Given the description of an element on the screen output the (x, y) to click on. 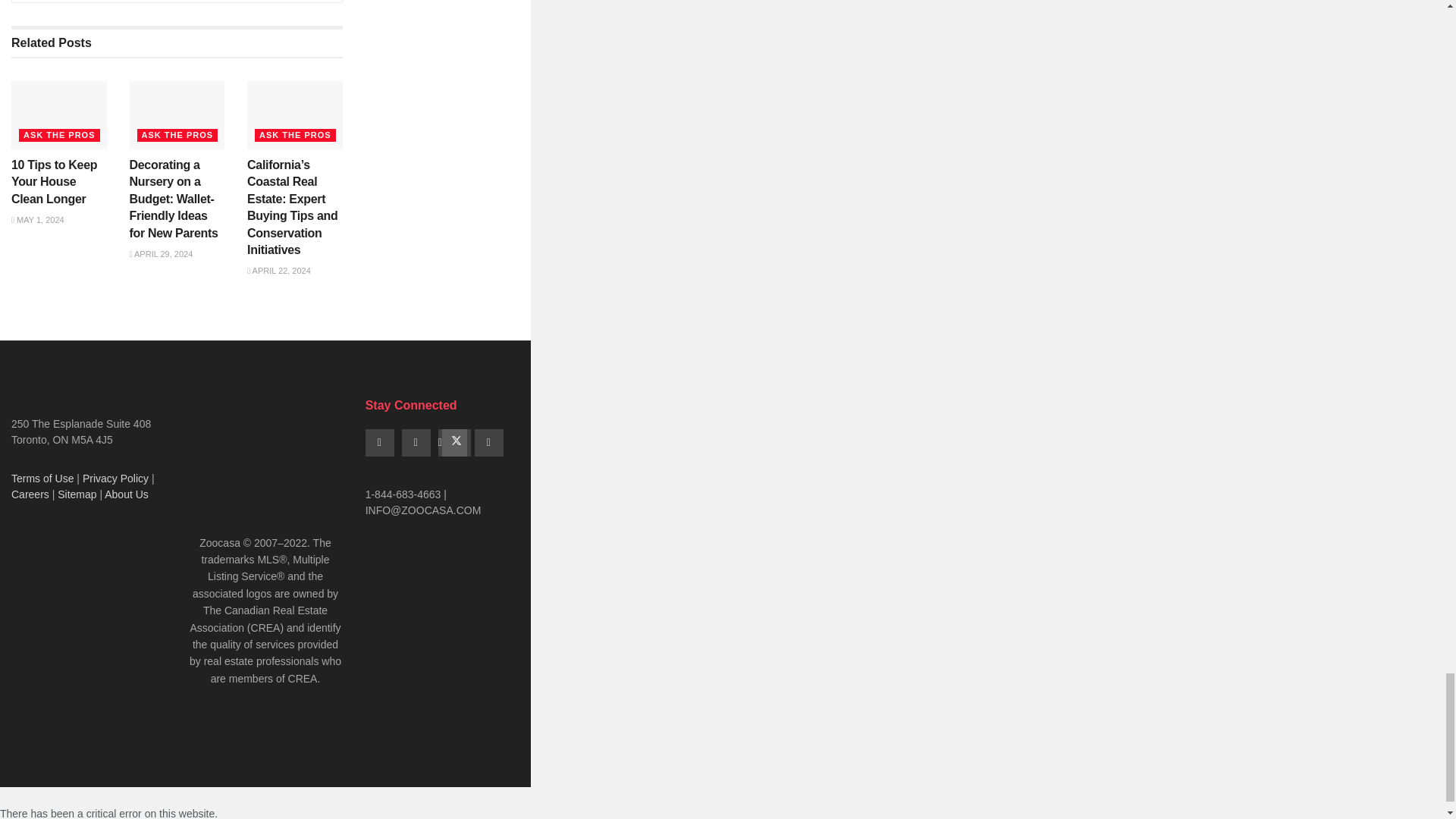
MAY 1, 2024 (37, 219)
10 Tips to Keep Your House Clean Longer (54, 181)
ASK THE PROS (59, 134)
